Given the description of an element on the screen output the (x, y) to click on. 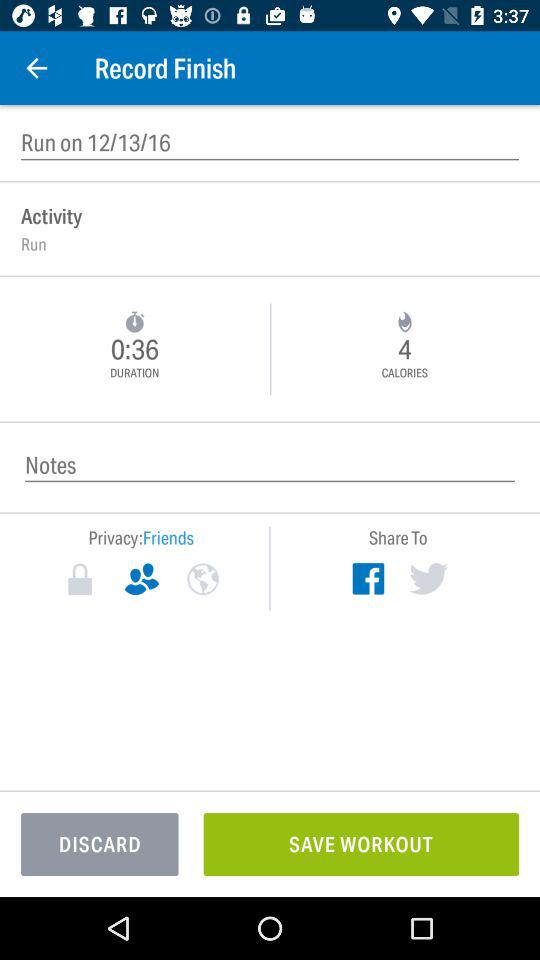
insert notes of the record (269, 464)
